Given the description of an element on the screen output the (x, y) to click on. 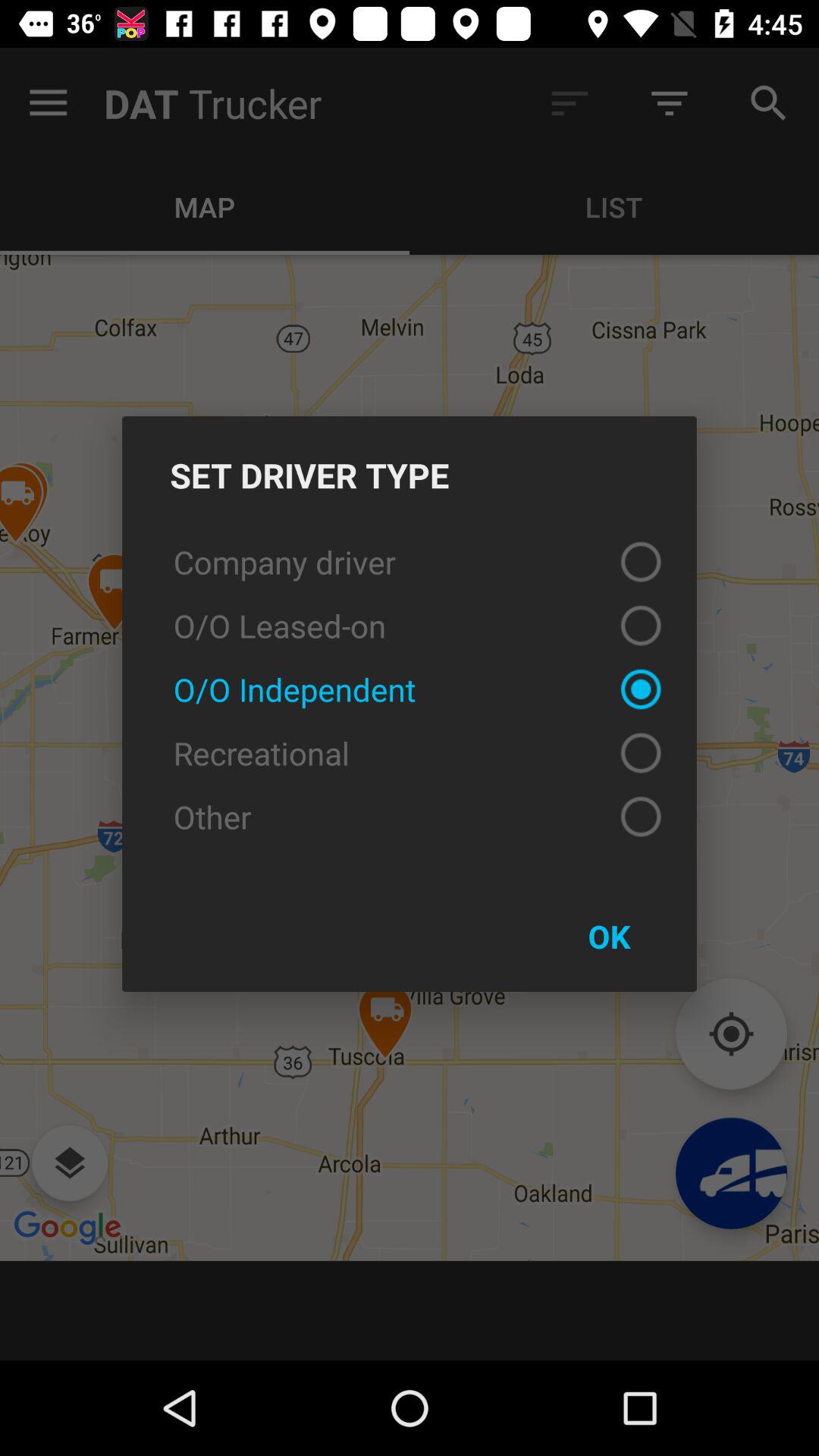
turn on the icon below the recreational icon (409, 816)
